Given the description of an element on the screen output the (x, y) to click on. 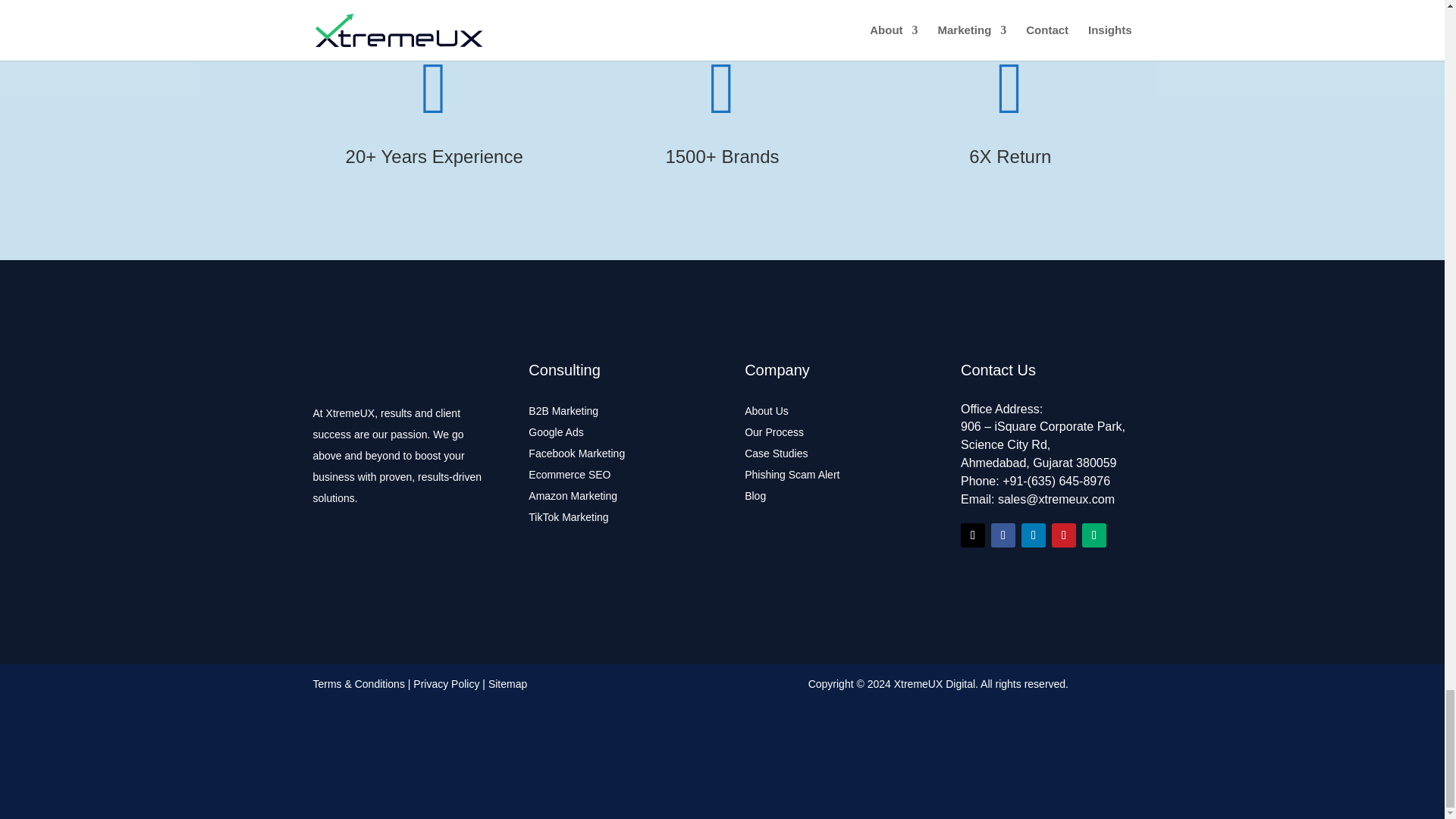
Blog (754, 495)
Follow on LinkedIn (1033, 535)
Sitemap (507, 684)
Ecommerce SEO (569, 474)
B2B Marketing (563, 410)
XtremeUX White Logo (398, 363)
Follow on Pinterest (1063, 535)
Follow on X (972, 535)
About Us (766, 410)
Phishing Scam Alert (792, 474)
Facebook Marketing (576, 453)
Amazon Marketing (572, 495)
Follow on Medium (1093, 535)
Case Studies (776, 453)
Our Process (773, 431)
